Given the description of an element on the screen output the (x, y) to click on. 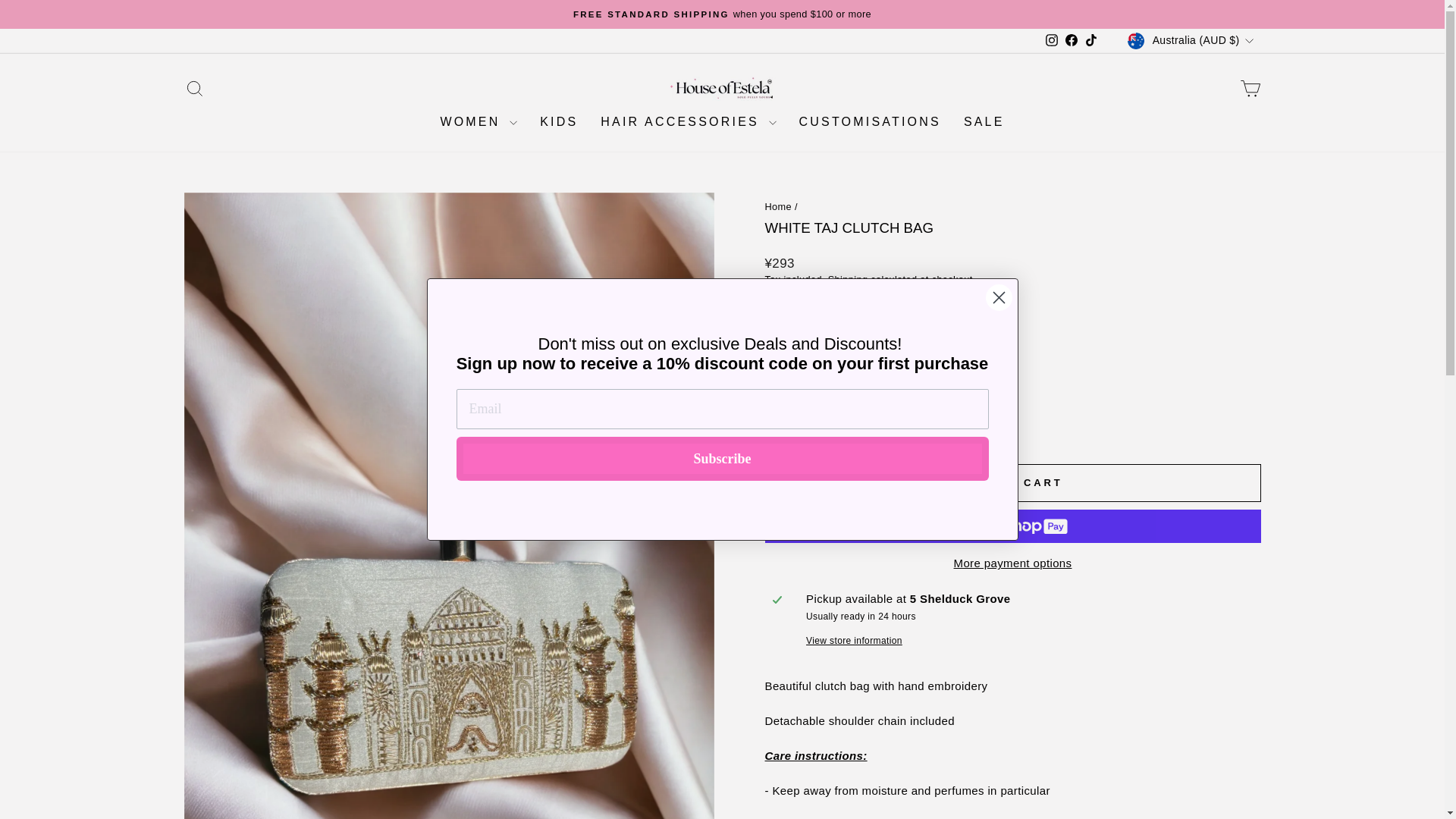
House of Estela on Instagram (1051, 40)
TikTok (1090, 40)
instagram (1051, 39)
Back to the frontpage (778, 206)
ICON-SEARCH (194, 88)
Facebook (1071, 40)
House of Estela on Facebook (1071, 40)
House of Estela on TikTok (1051, 40)
